Given the description of an element on the screen output the (x, y) to click on. 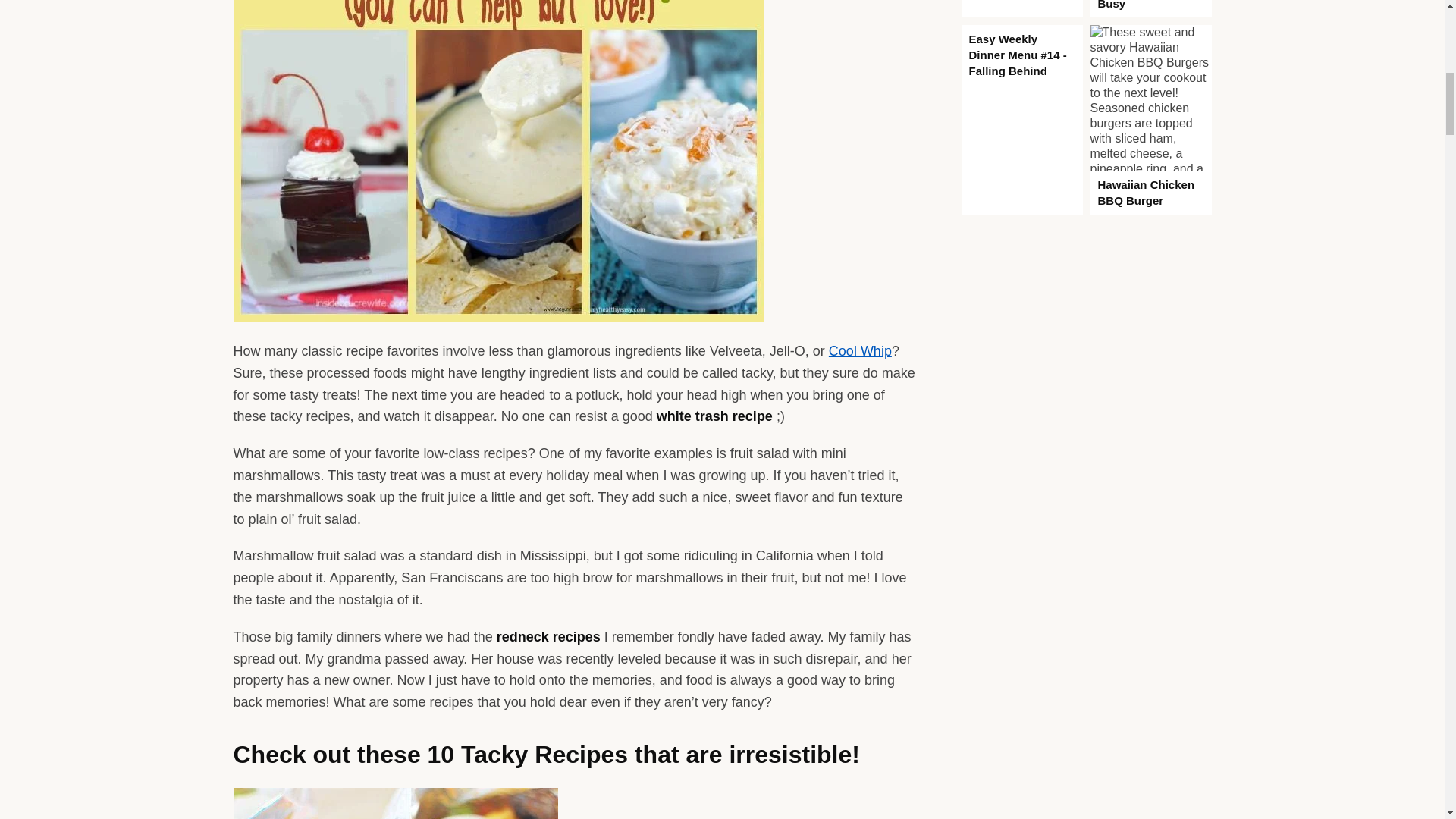
Cool Whip (859, 350)
